Given the description of an element on the screen output the (x, y) to click on. 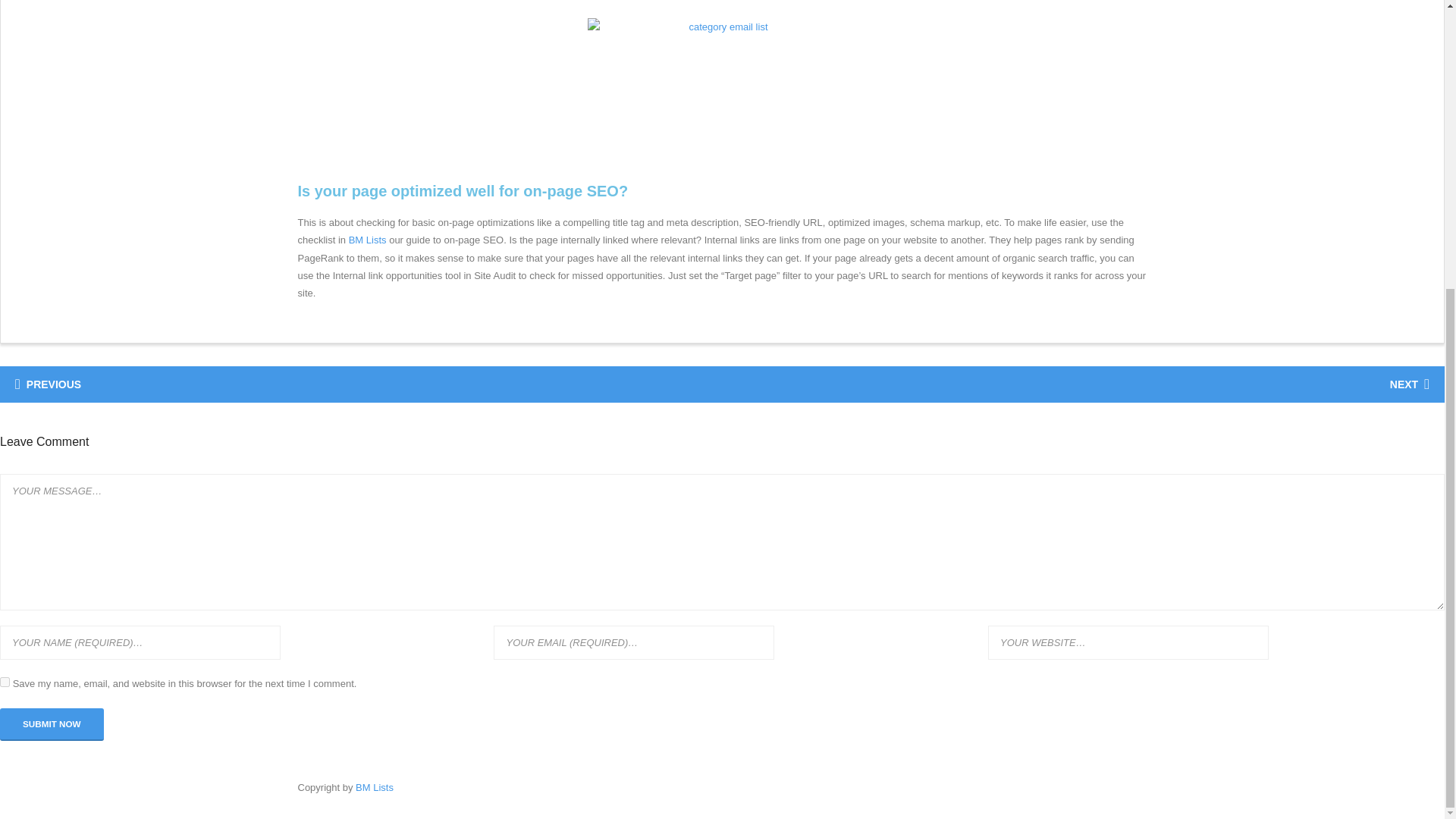
Submit Now (51, 724)
yes (5, 682)
BM Lists (368, 239)
NEXT (1406, 384)
PREVIOUS (50, 384)
Submit Now (51, 724)
BM Lists (374, 787)
